Given the description of an element on the screen output the (x, y) to click on. 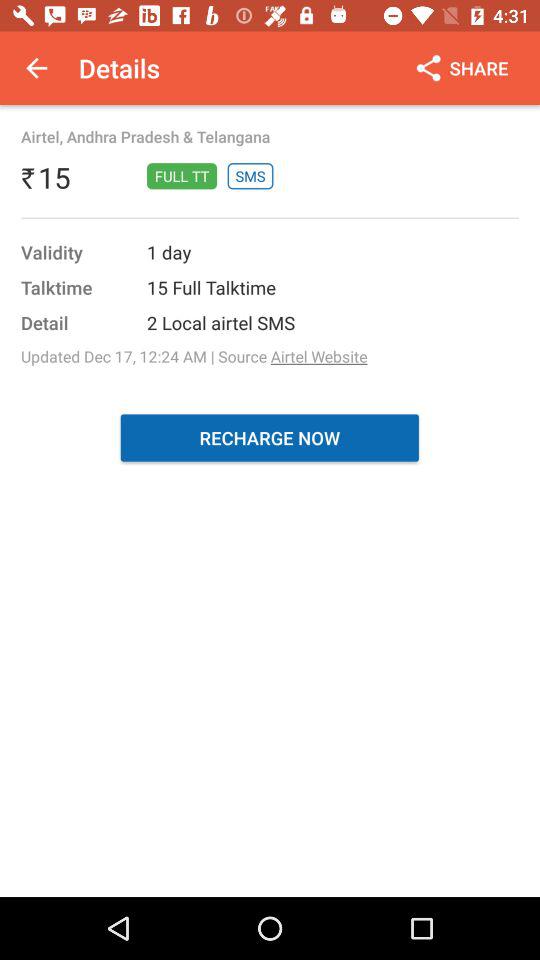
press the icon above airtel andhra pradesh icon (36, 68)
